Given the description of an element on the screen output the (x, y) to click on. 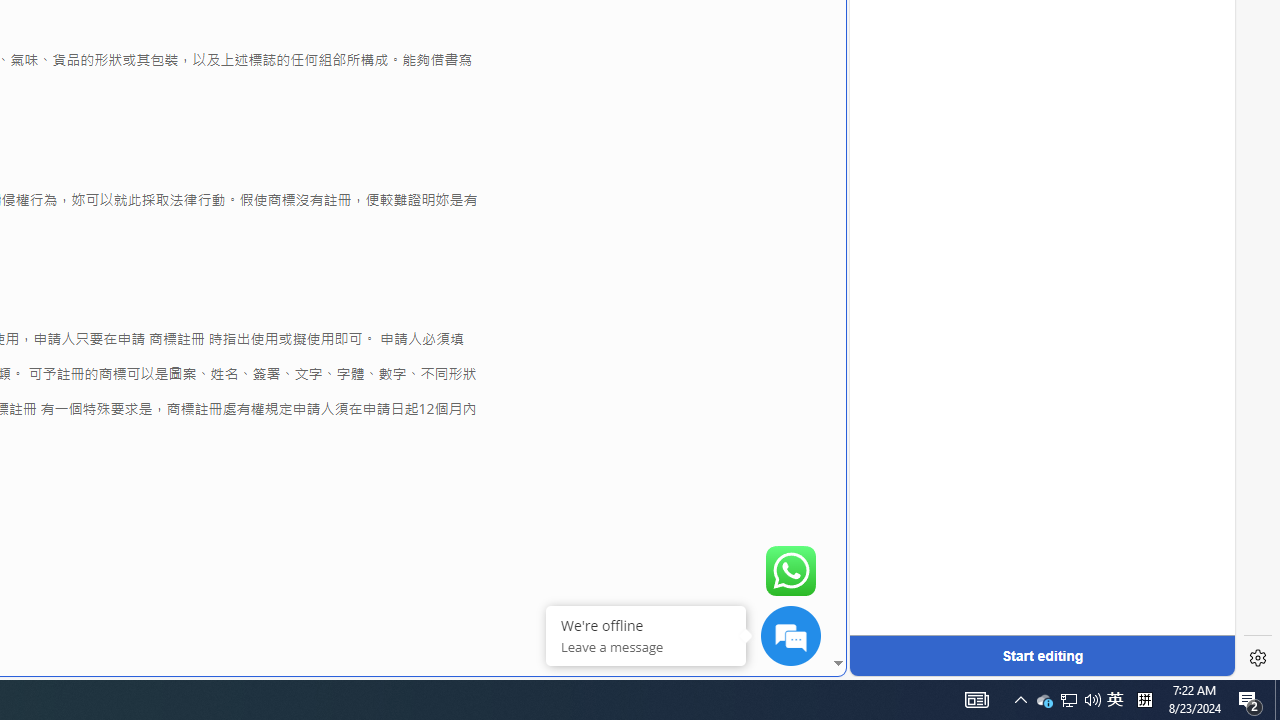
Start editing (1042, 655)
